Given the description of an element on the screen output the (x, y) to click on. 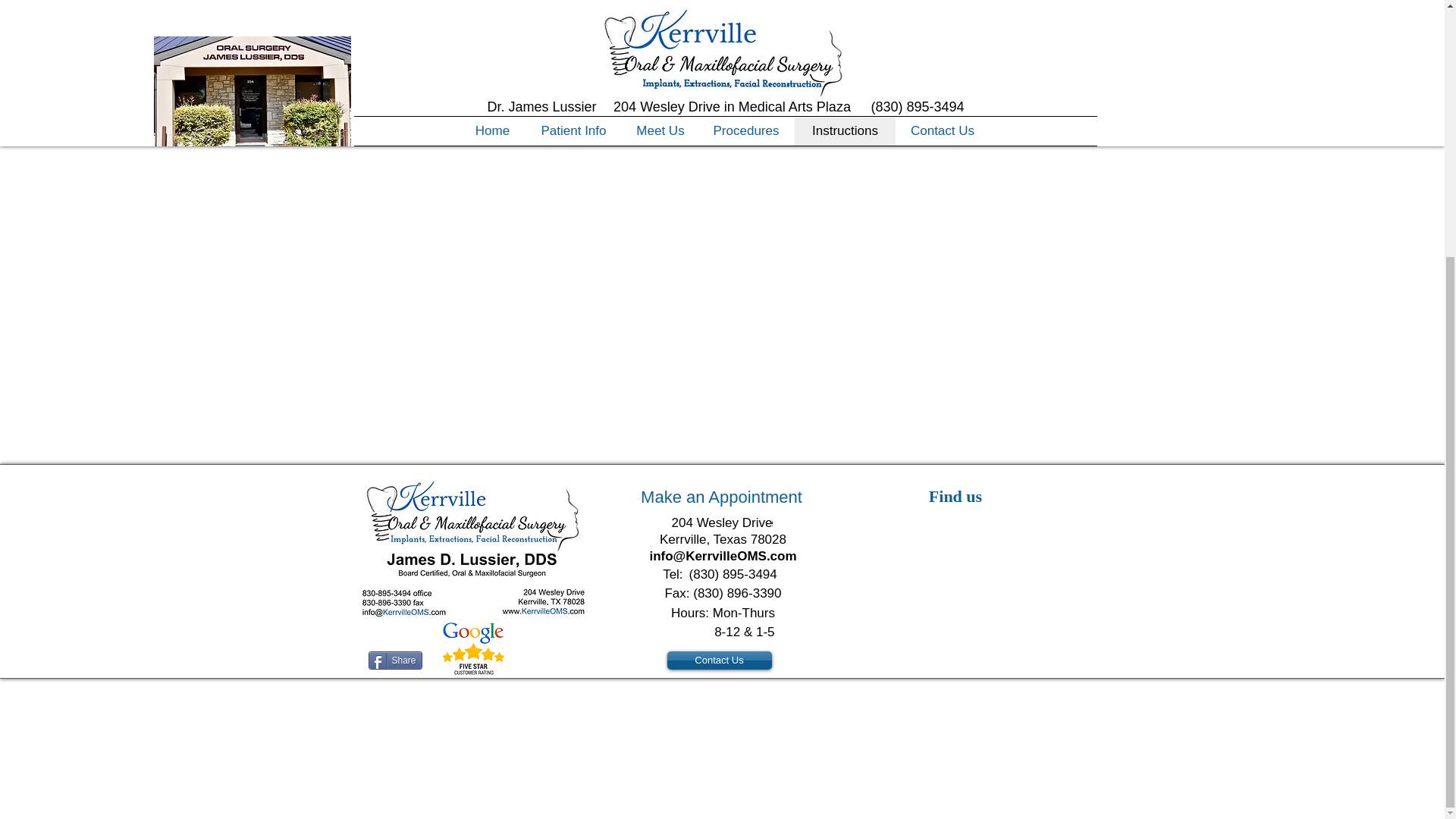
large card doctor lussier (473, 548)
Share (395, 660)
Facebook Like (558, 658)
Share (395, 660)
Contact Us (718, 660)
